Given the description of an element on the screen output the (x, y) to click on. 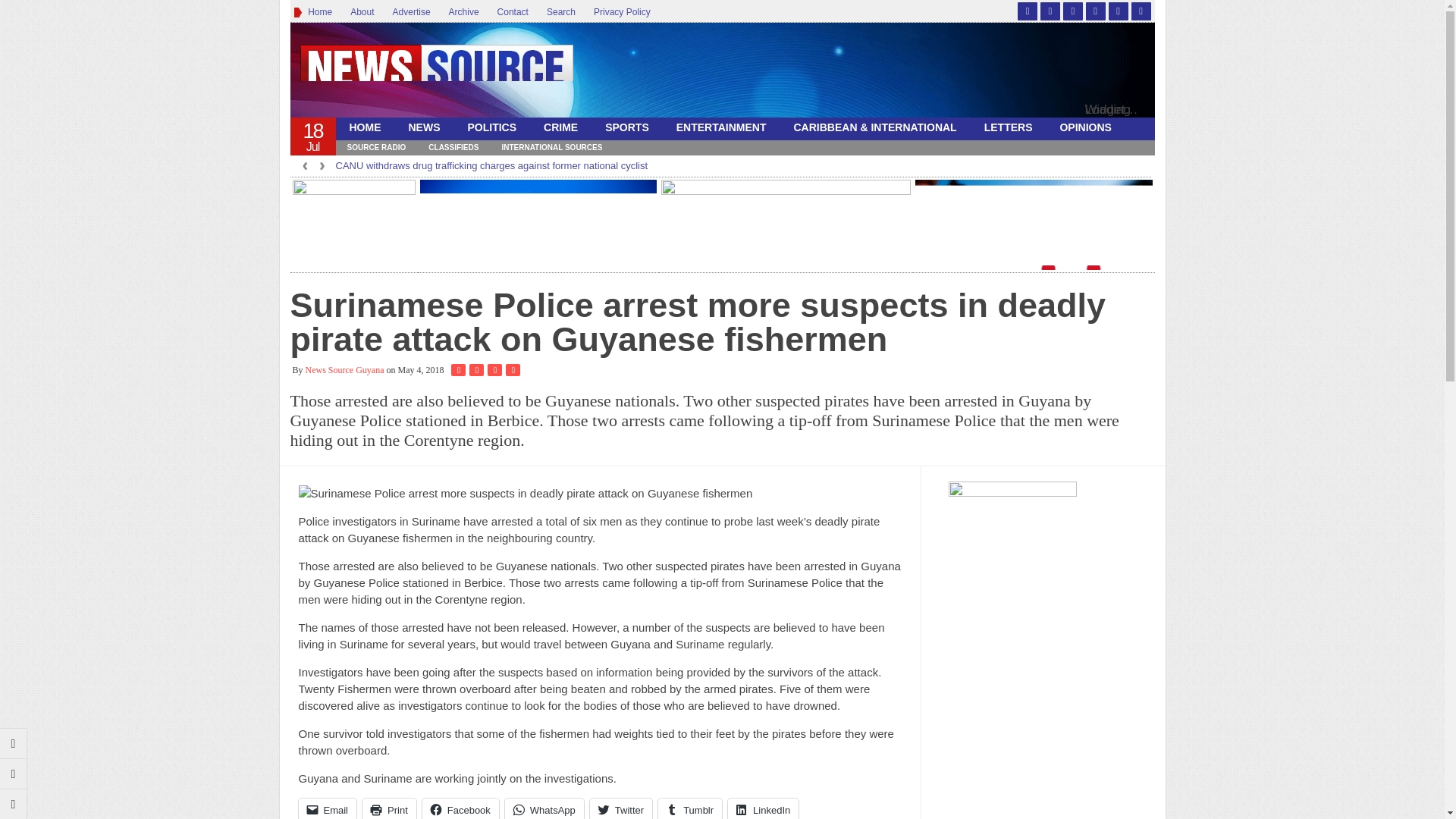
NEWS (423, 127)
Archive (463, 12)
OPINIONS (1084, 127)
Privacy Policy (622, 12)
Search (561, 12)
HOME (364, 127)
CRIME (560, 127)
News Source Guyana (435, 73)
SOURCE RADIO (375, 147)
POLITICS (490, 127)
SPORTS (626, 127)
